Given the description of an element on the screen output the (x, y) to click on. 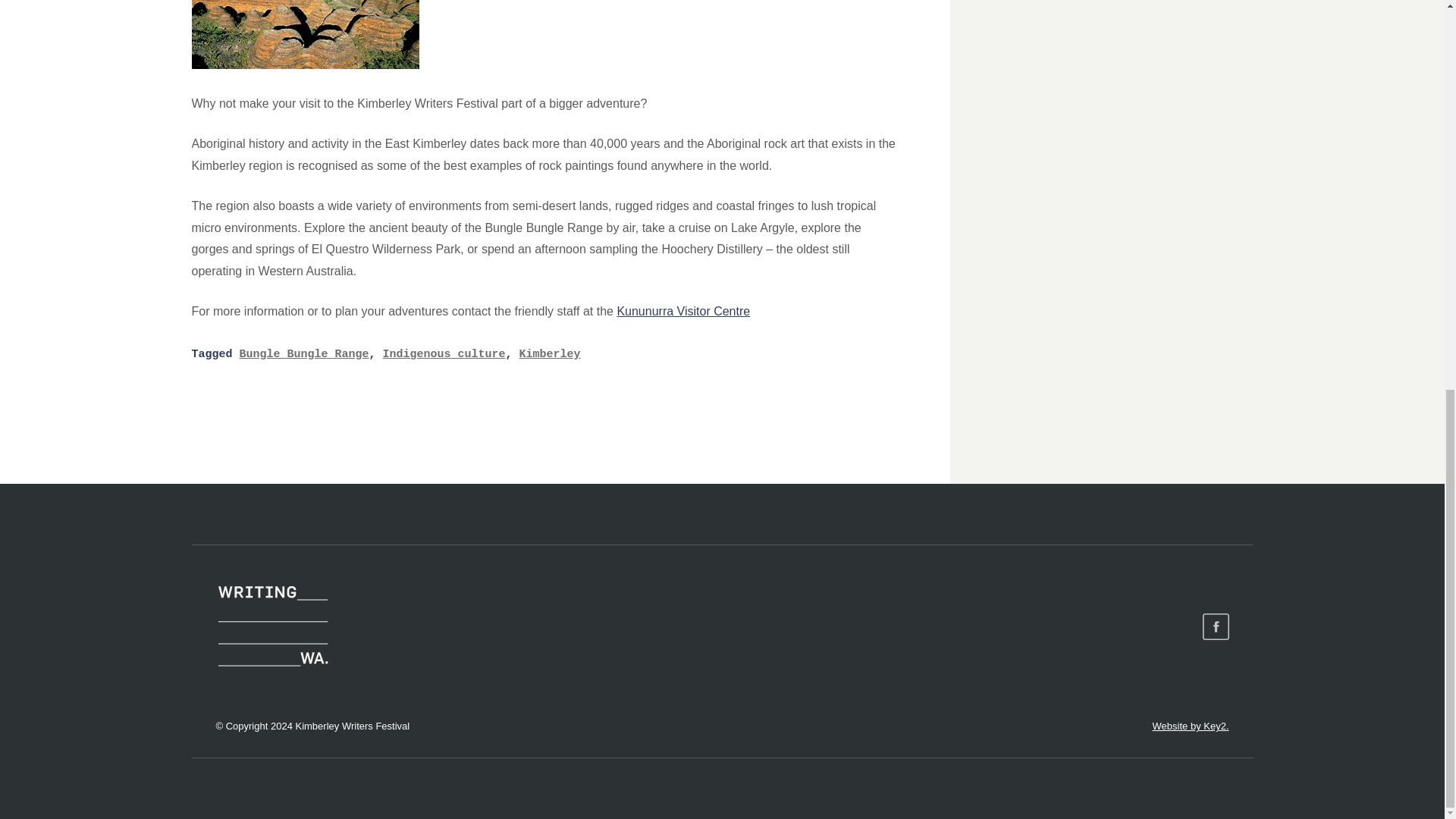
Kimberley Writers Festival (272, 626)
Kimberley (549, 354)
Kimberley Writers Festival (272, 626)
Website by Key2. (1189, 726)
Link to our Facebook page (1215, 626)
Indigenous culture (443, 354)
Bungle Bungle Range (304, 354)
Kununurra Visitor Centre (682, 310)
